Given the description of an element on the screen output the (x, y) to click on. 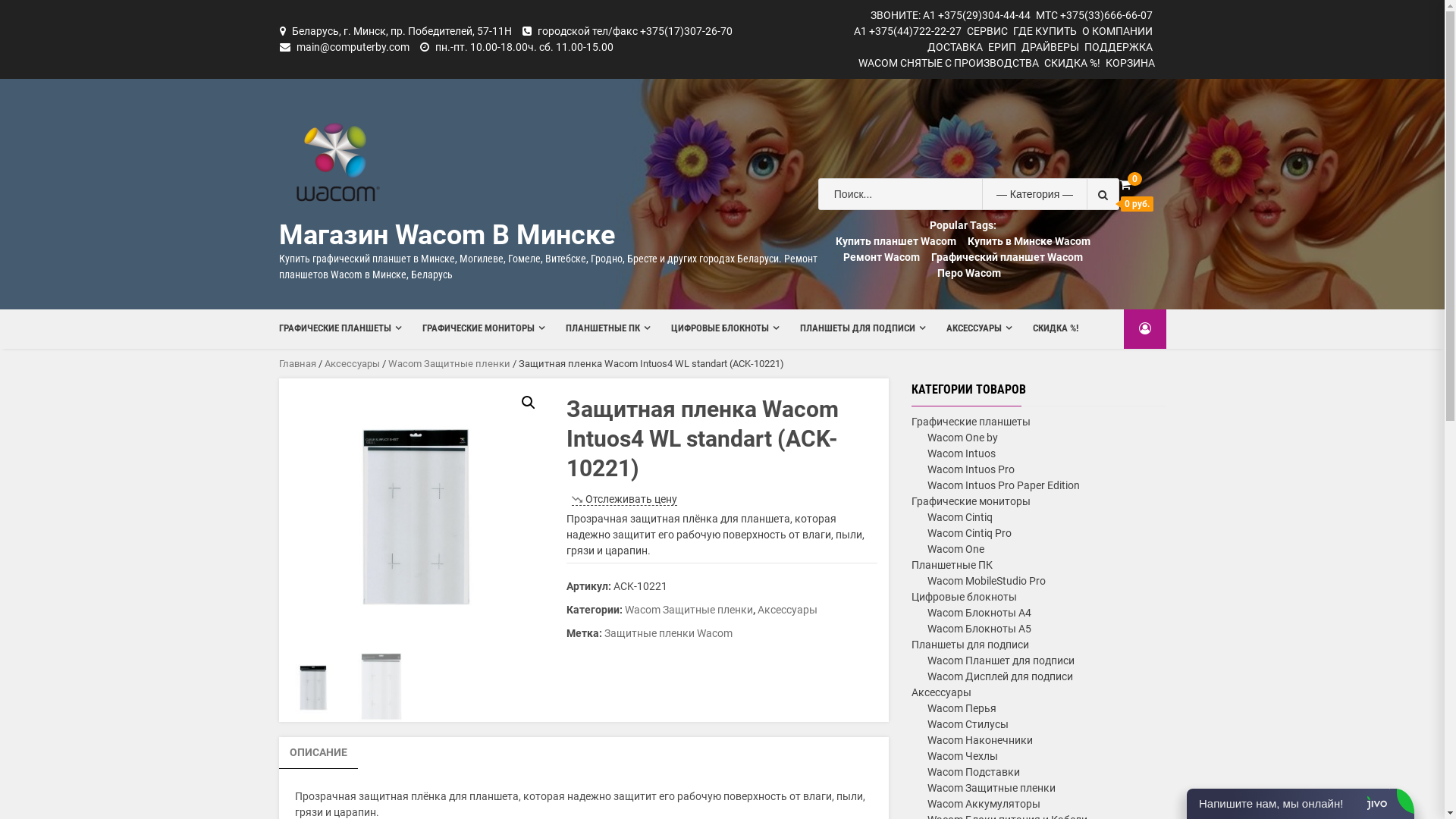
Wacom One by Element type: text (961, 437)
Wacom Cintiq Pro Element type: text (968, 533)
0 Element type: text (1124, 184)
Wacom Intuos Pro Paper Edition Element type: text (1002, 485)
Wacom Cintiq Element type: text (958, 517)
Wacom Intuos Element type: text (960, 453)
Wacom One Element type: text (954, 548)
Wacom Intuos Pro Element type: text (969, 469)
main@computerby.com Element type: text (351, 46)
Wacom MobileStudio Pro Element type: text (985, 580)
A1 +375(44)722-22-27 Element type: text (907, 31)
